Given the description of an element on the screen output the (x, y) to click on. 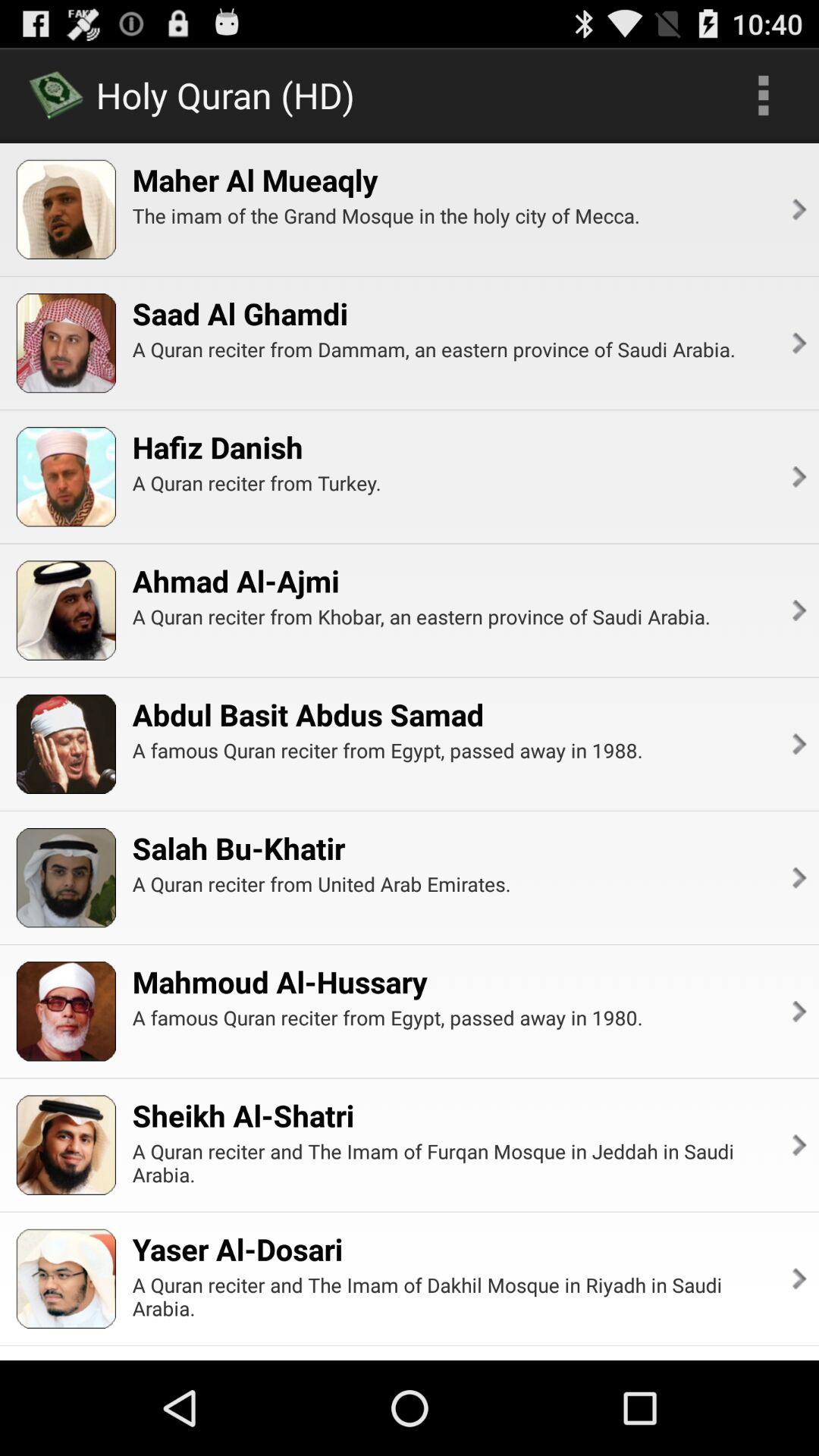
click the app next to a quran reciter item (797, 610)
